Given the description of an element on the screen output the (x, y) to click on. 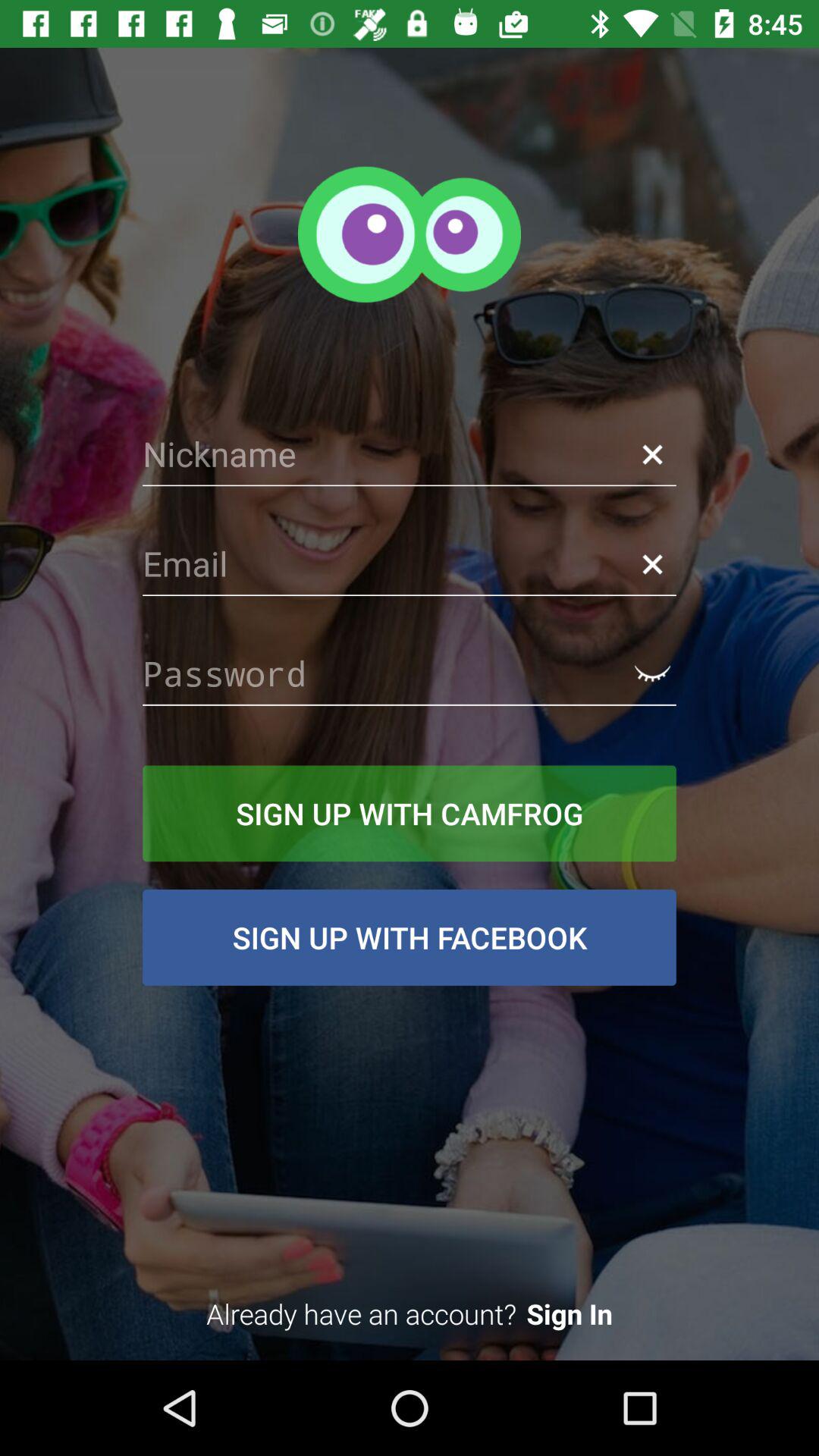
delete nickname (652, 454)
